Given the description of an element on the screen output the (x, y) to click on. 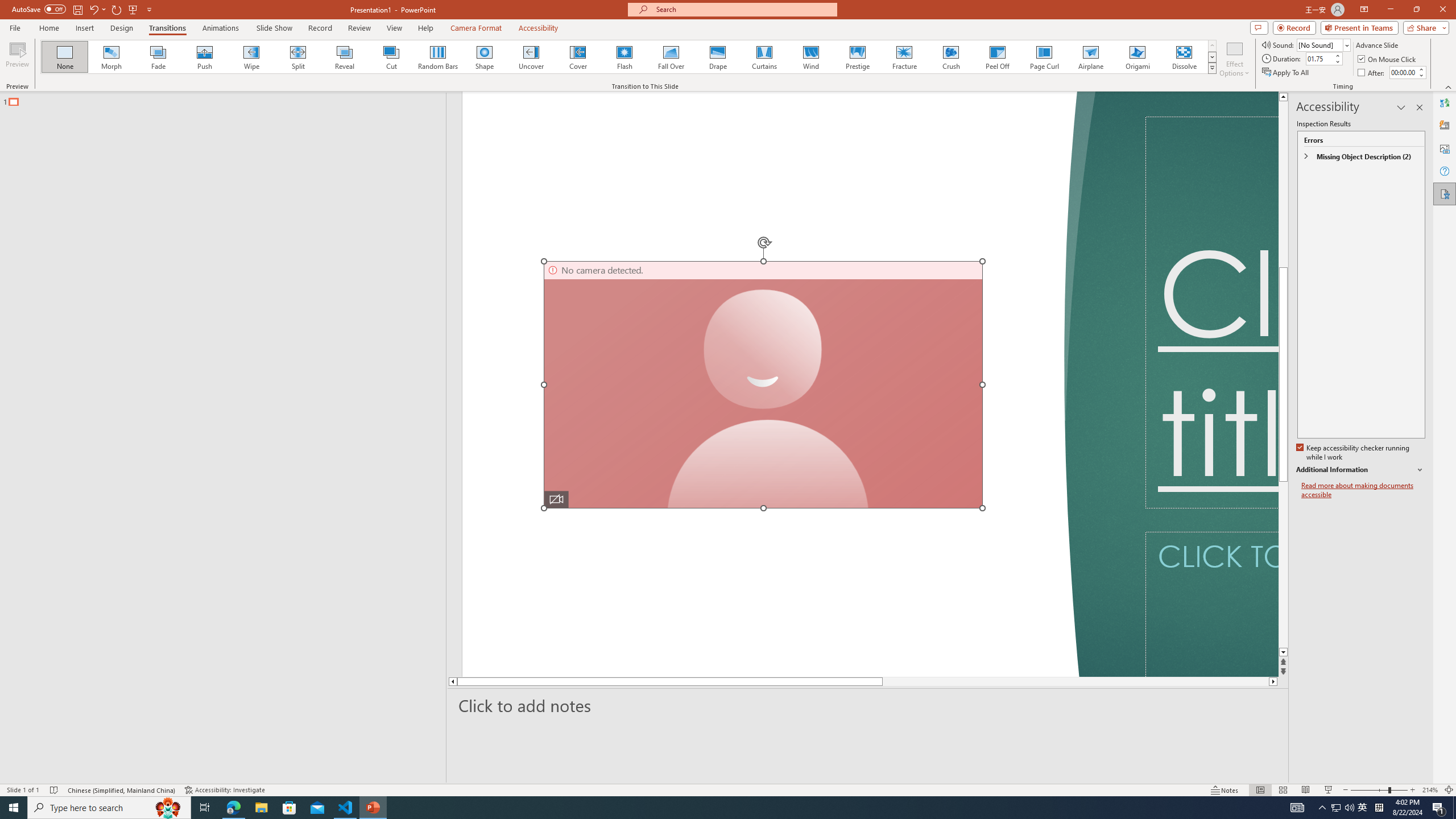
Uncover (531, 56)
After (1372, 72)
Slide Notes (868, 705)
Split (298, 56)
Page Curl (1043, 56)
Morph (111, 56)
Camera 7, No camera detected. (762, 384)
